Given the description of an element on the screen output the (x, y) to click on. 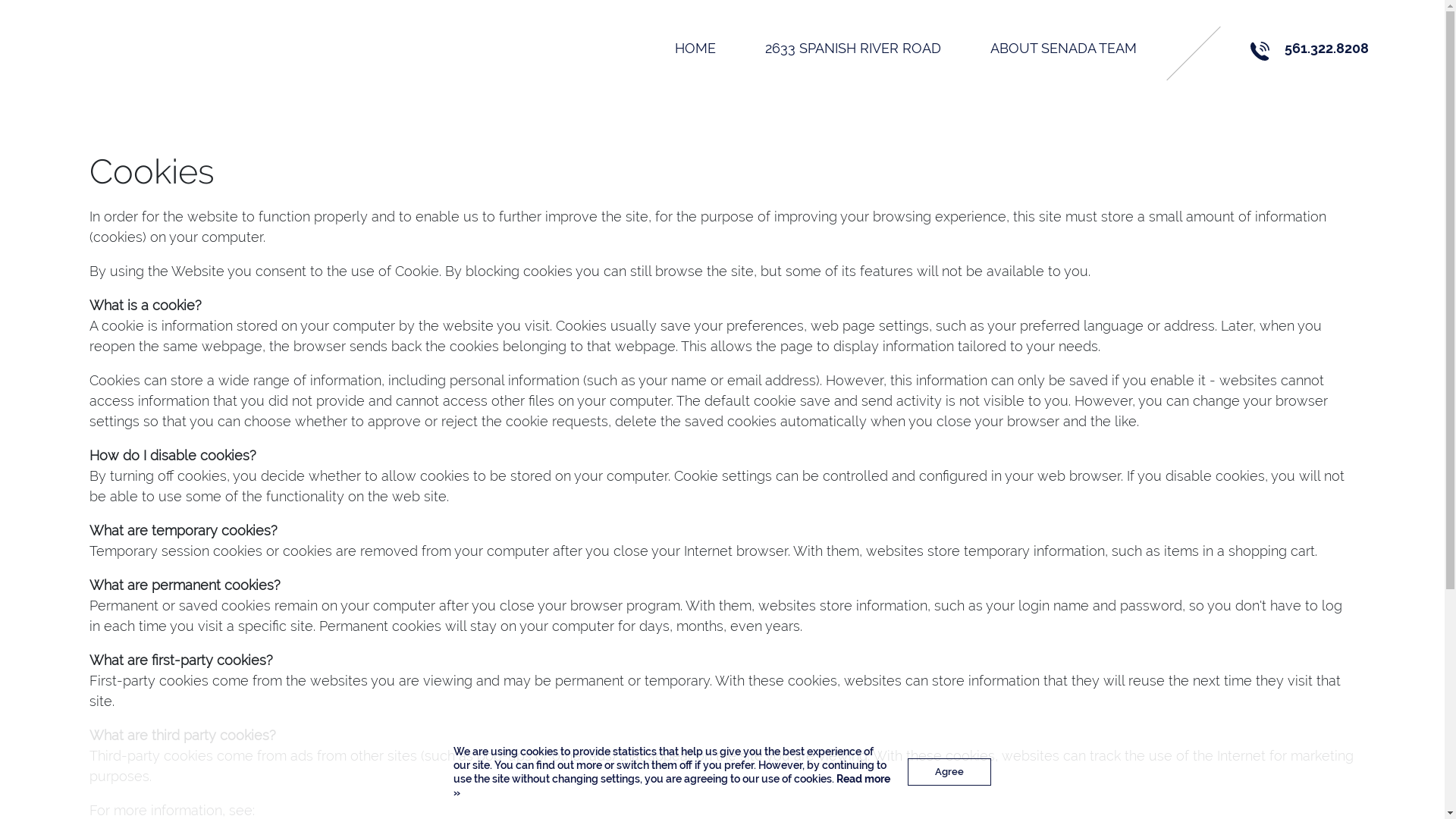
2633 SPANISH RIVER ROAD Element type: text (852, 47)
561.322.8208 Element type: text (1326, 48)
Agree Element type: text (949, 771)
HOME Element type: text (695, 47)
ABOUT SENADA TEAM Element type: text (1063, 47)
